Given the description of an element on the screen output the (x, y) to click on. 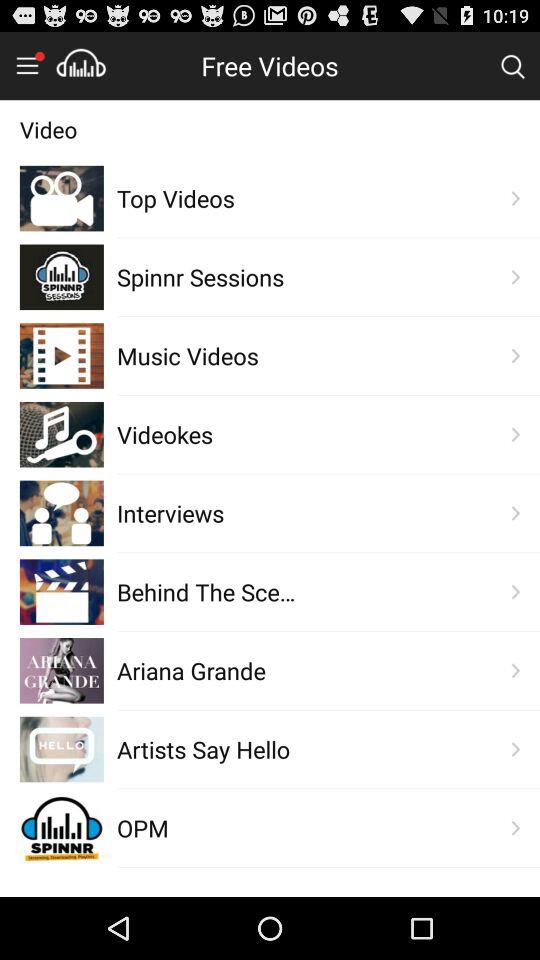
search (512, 65)
